Given the description of an element on the screen output the (x, y) to click on. 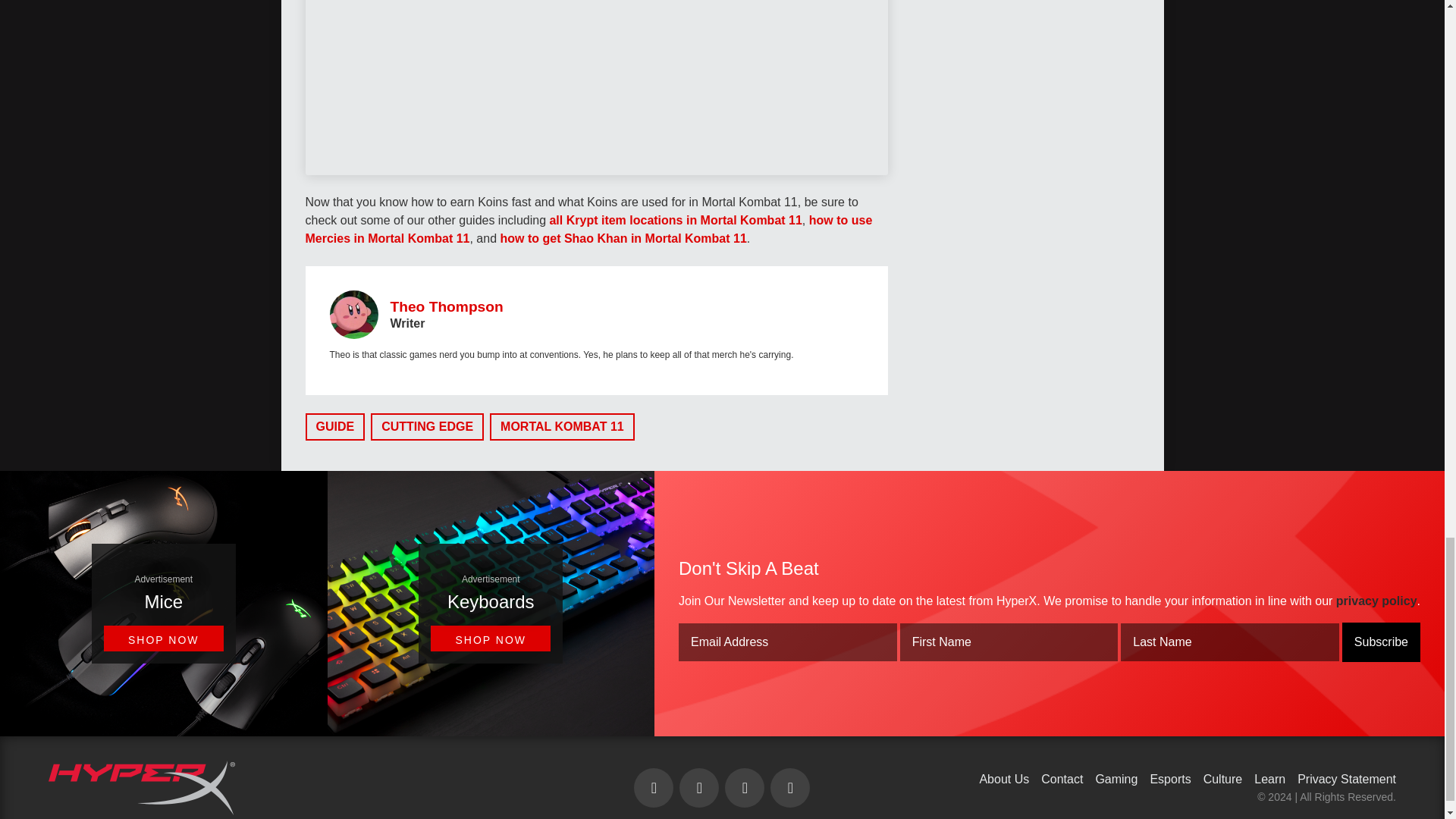
Gaming (1115, 779)
Esports (1170, 779)
Privacy Statement (1346, 779)
CUTTING EDGE (427, 426)
privacy policy (1376, 600)
GUIDE (334, 426)
Learn (1269, 779)
Theo Thompson (446, 306)
Subscribe (1381, 641)
Contact (1062, 779)
SHOP NOW (163, 637)
Subscribe (1381, 641)
all Krypt item locations in Mortal Kombat 11 (675, 219)
MORTAL KOMBAT 11 (561, 426)
About Us (1003, 779)
